Given the description of an element on the screen output the (x, y) to click on. 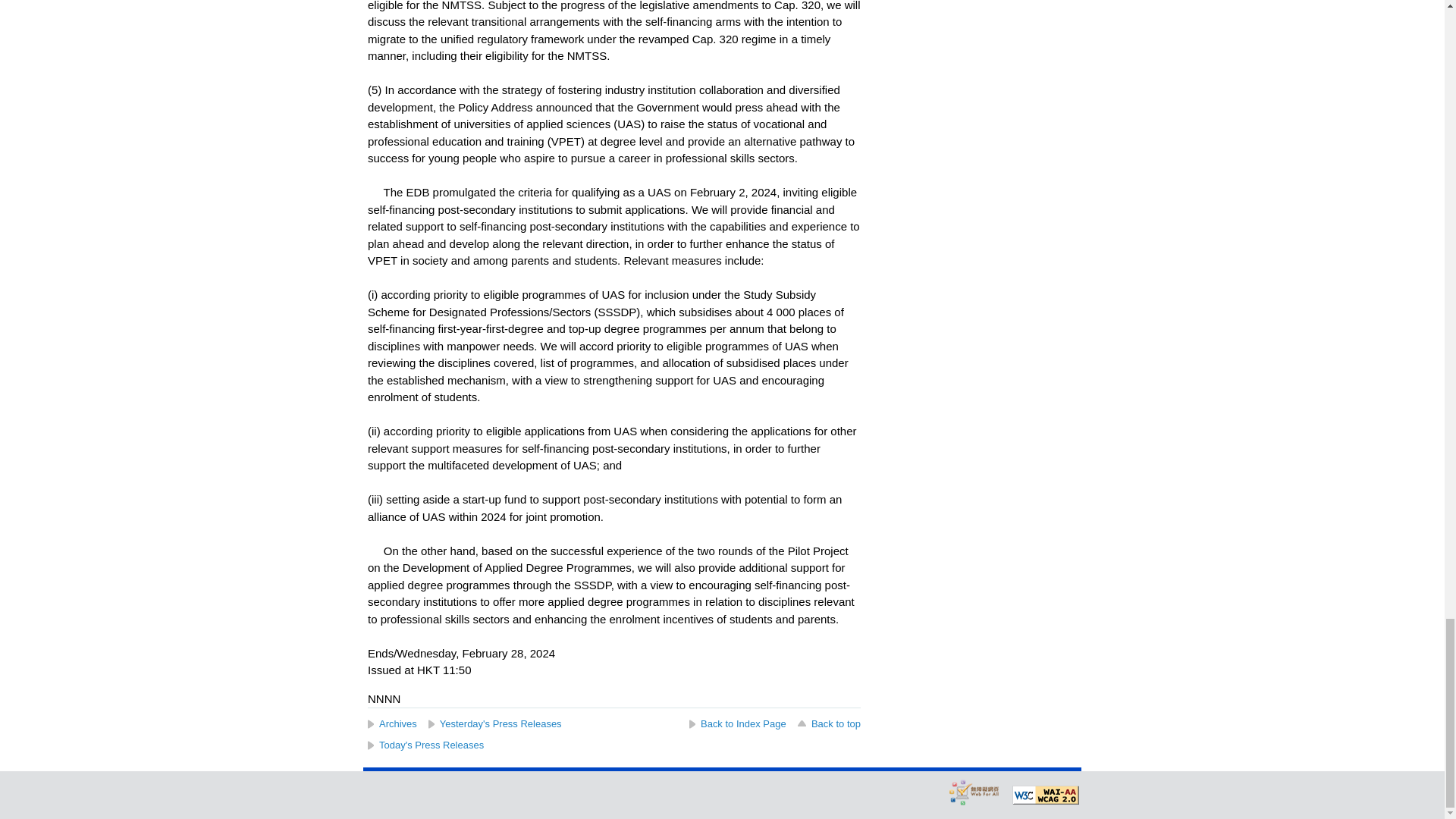
Today's Press Releases (425, 745)
Archives (392, 723)
Web Accessibility Recognition Scheme (974, 791)
Back to Index Page (737, 723)
Back to top (828, 723)
Yesterday's Press Releases (495, 723)
